Given the description of an element on the screen output the (x, y) to click on. 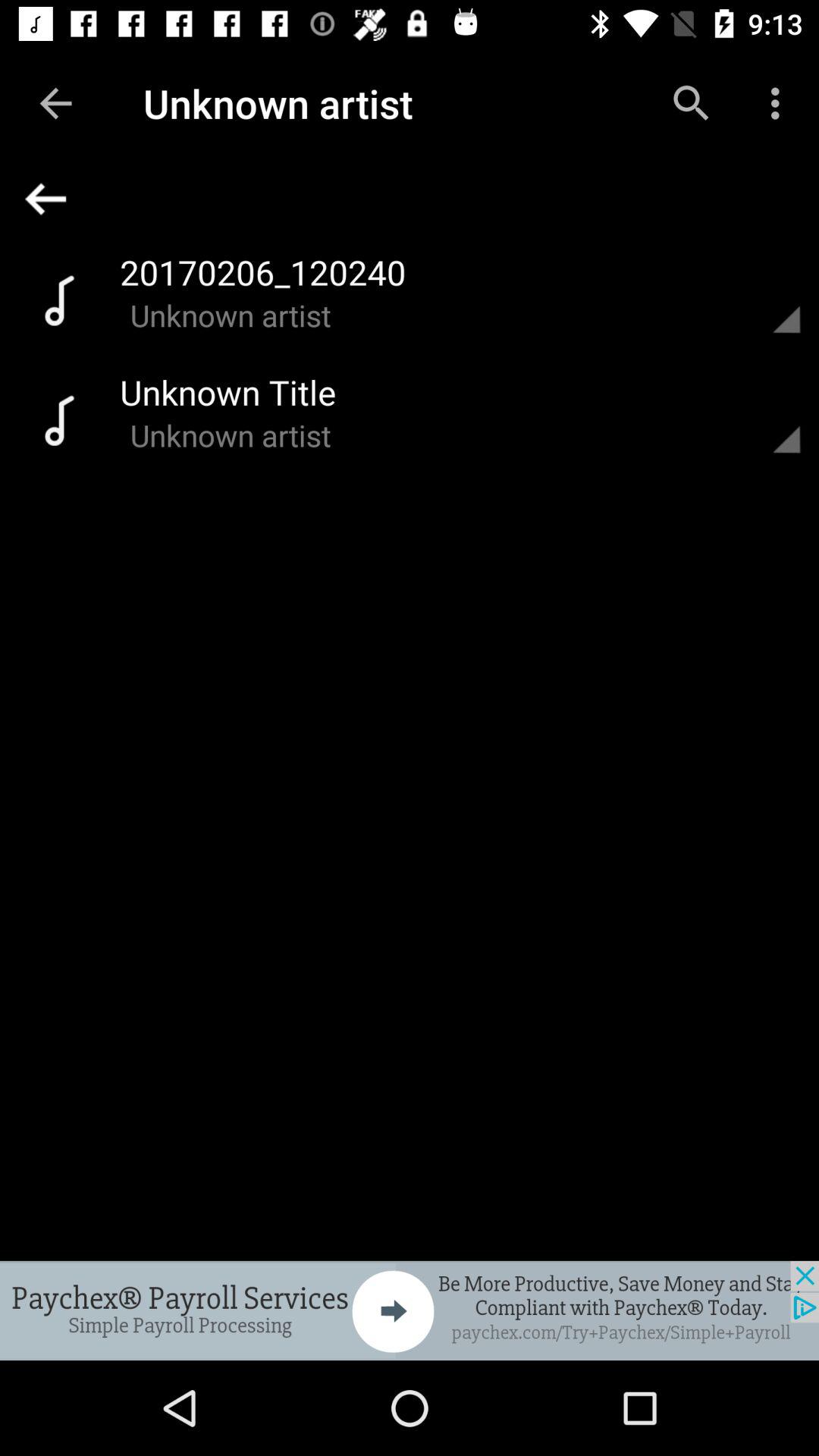
undo button (416, 198)
